Given the description of an element on the screen output the (x, y) to click on. 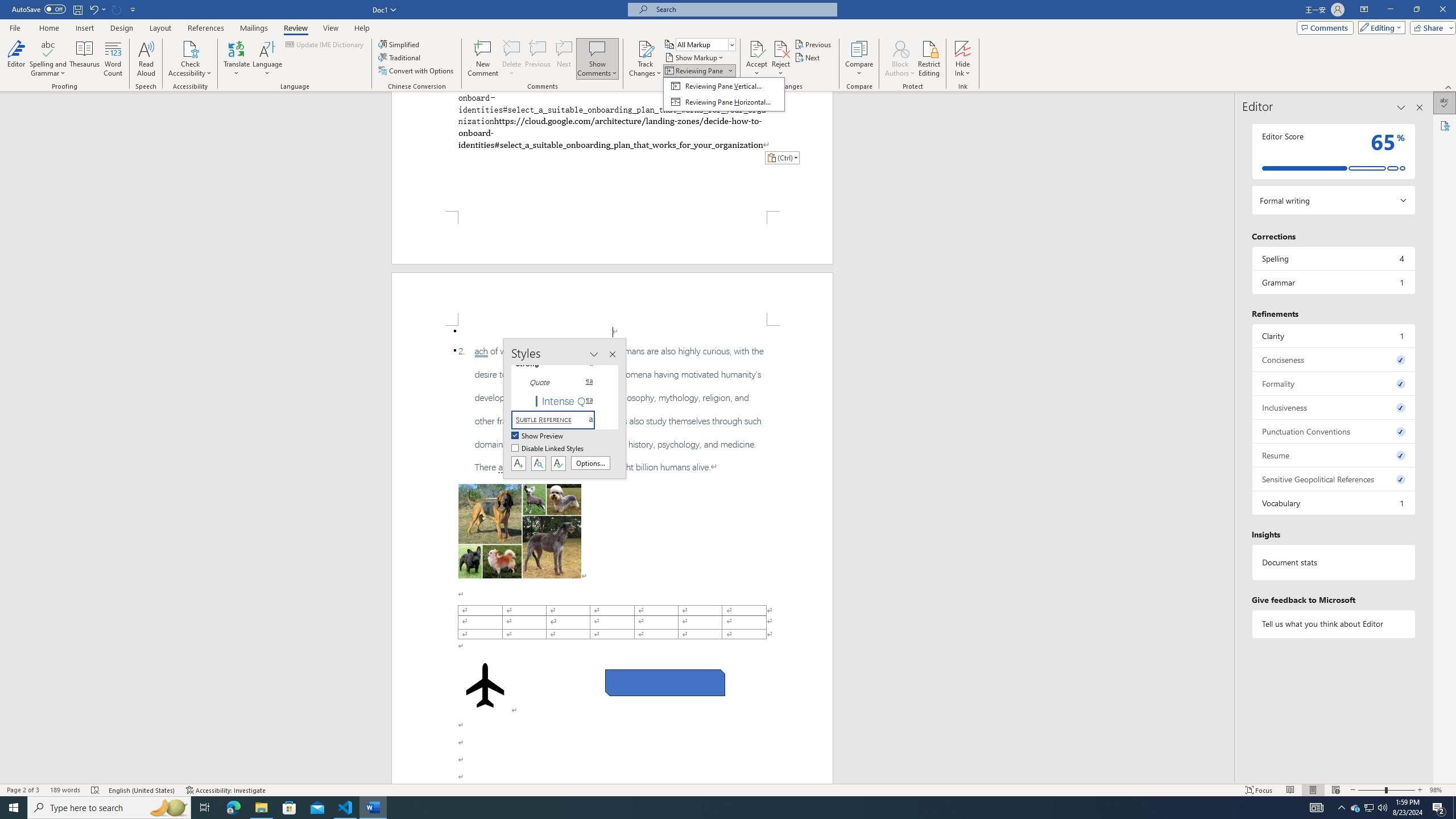
Page 2 content (611, 554)
Accessibility (1444, 125)
Next (808, 56)
Page Number Page 2 of 3 (22, 790)
Intense Quote (559, 400)
Spelling, 4 issues. Press space or enter to review items. (1333, 258)
Word - 1 running window (373, 807)
Undo Paste (92, 9)
Word Count (113, 58)
Class: NetUIButton (558, 463)
Check Accessibility (189, 58)
Delete (511, 58)
Options... (590, 463)
